Given the description of an element on the screen output the (x, y) to click on. 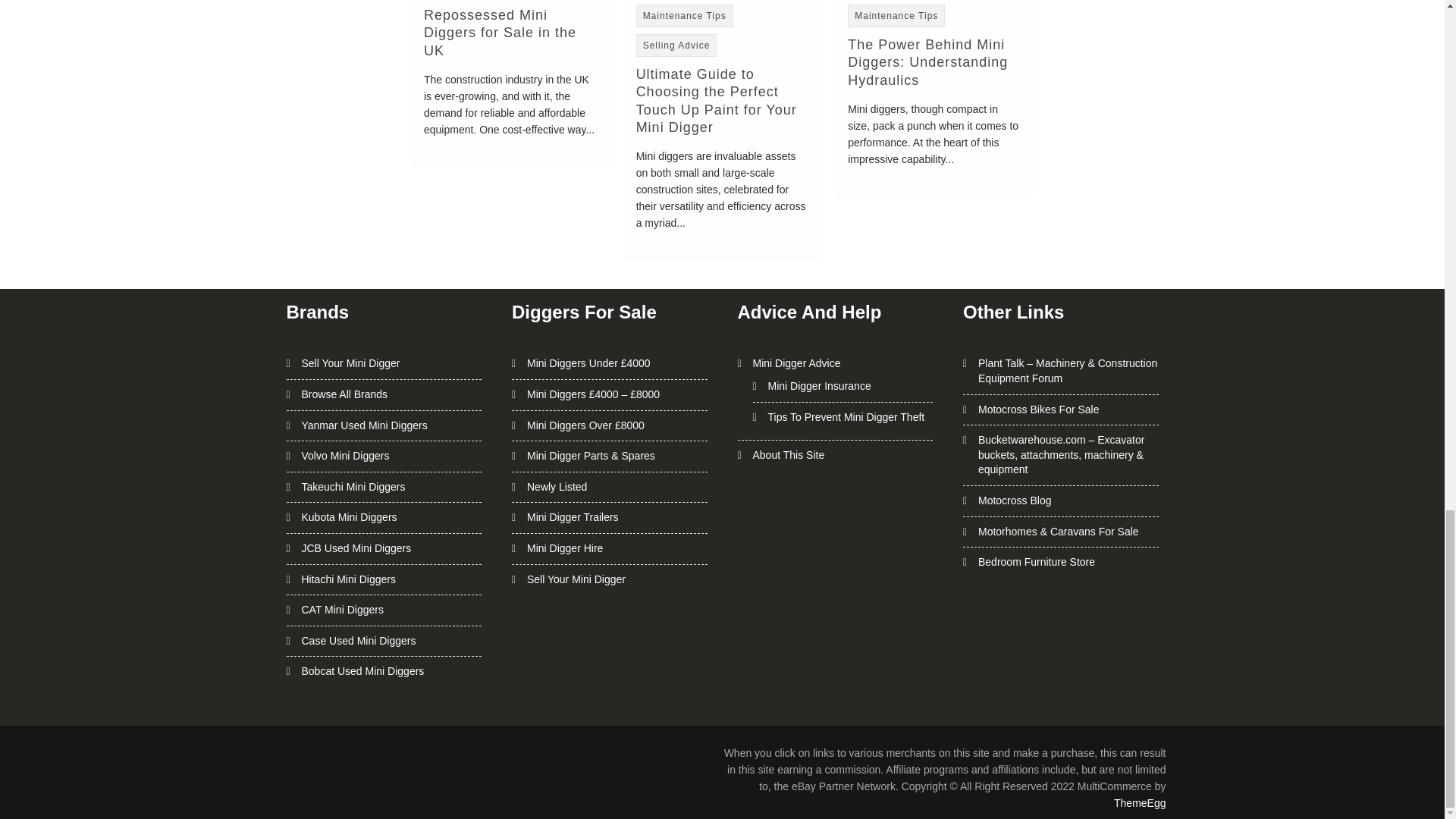
Mini Digger Trailers For Sale (572, 517)
Newly Listed Mini Diggers For Sale (556, 486)
About Mini Diggers Website (788, 454)
Mini Digger Parts, Spares And Accessories For Sale (591, 455)
Mini Digger Hire (564, 548)
